Given the description of an element on the screen output the (x, y) to click on. 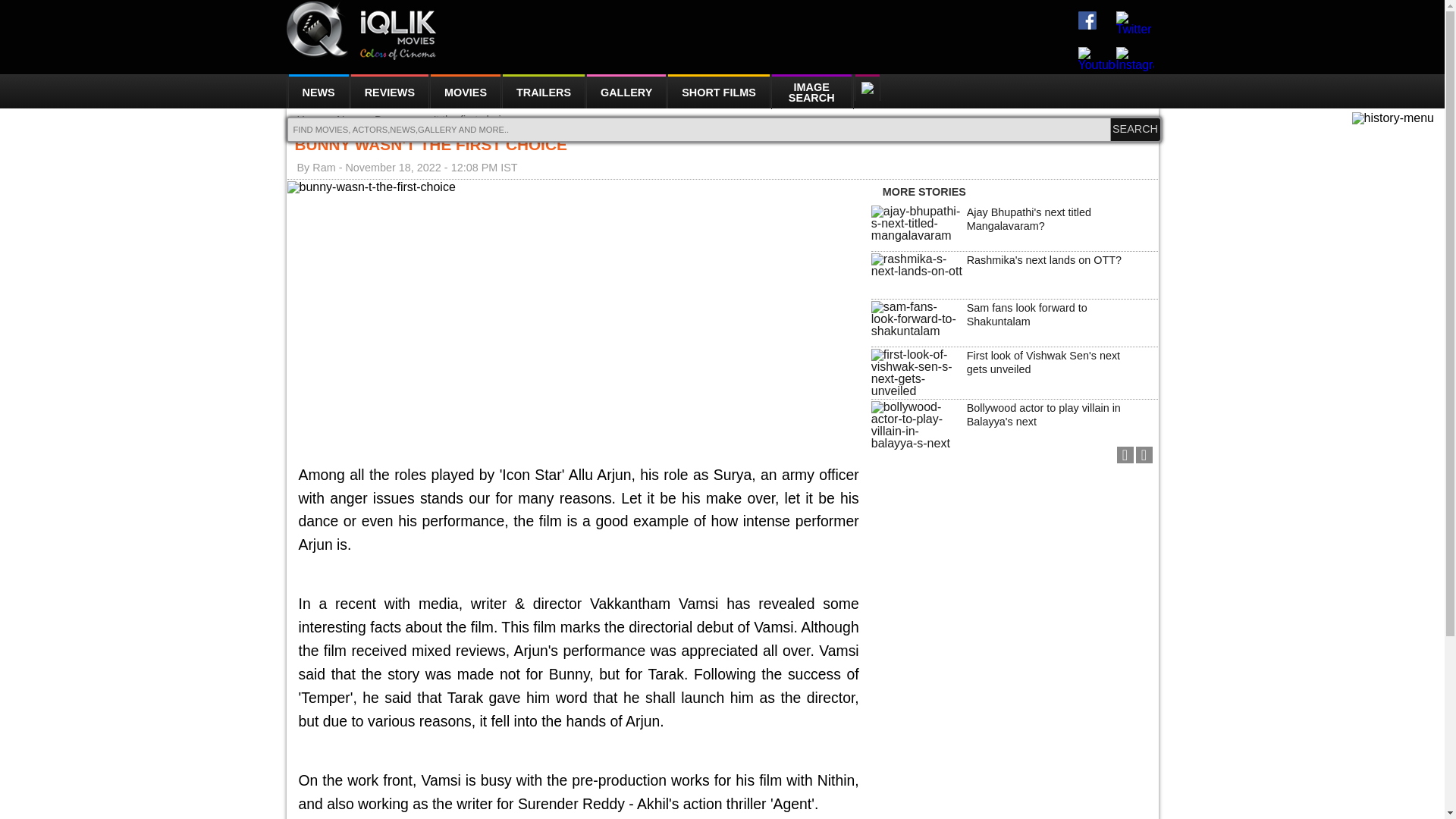
MOVIES (465, 91)
Previous (1124, 454)
iQlik - Home (361, 30)
Next (1144, 454)
GALLERY (625, 91)
TRAILERS (543, 91)
NEWS (316, 91)
REVIEWS (389, 91)
